Given the description of an element on the screen output the (x, y) to click on. 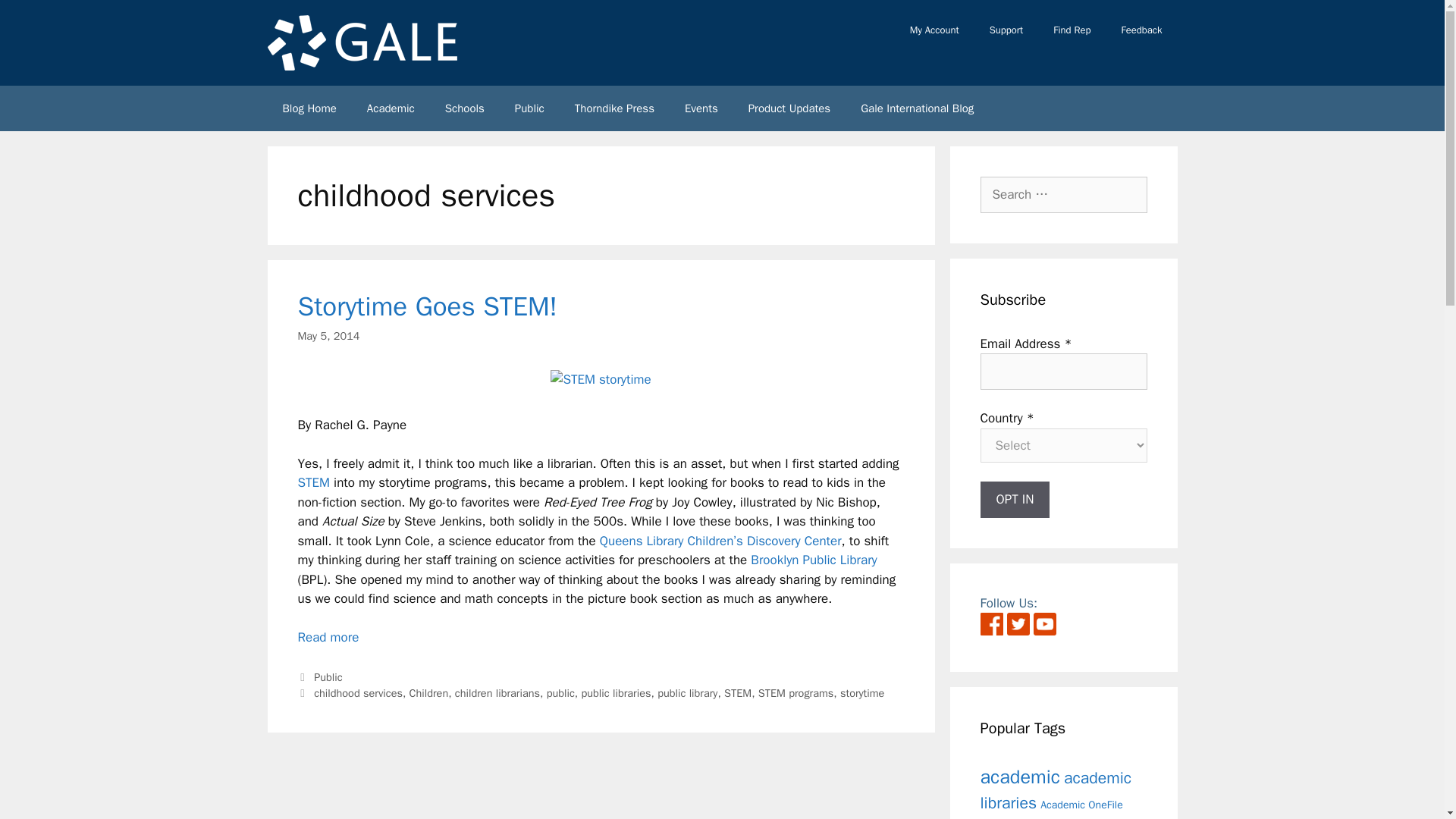
Public (529, 108)
Search (35, 18)
Feedback (1140, 30)
Academic (390, 108)
STEM (737, 693)
STEM (313, 482)
Events (701, 108)
academic (1019, 775)
STEM programs (796, 693)
children librarians (497, 693)
childhood services (358, 693)
Academic OneFile (1081, 804)
Blog Home (308, 108)
Schools (464, 108)
OPT IN (1014, 499)
